Given the description of an element on the screen output the (x, y) to click on. 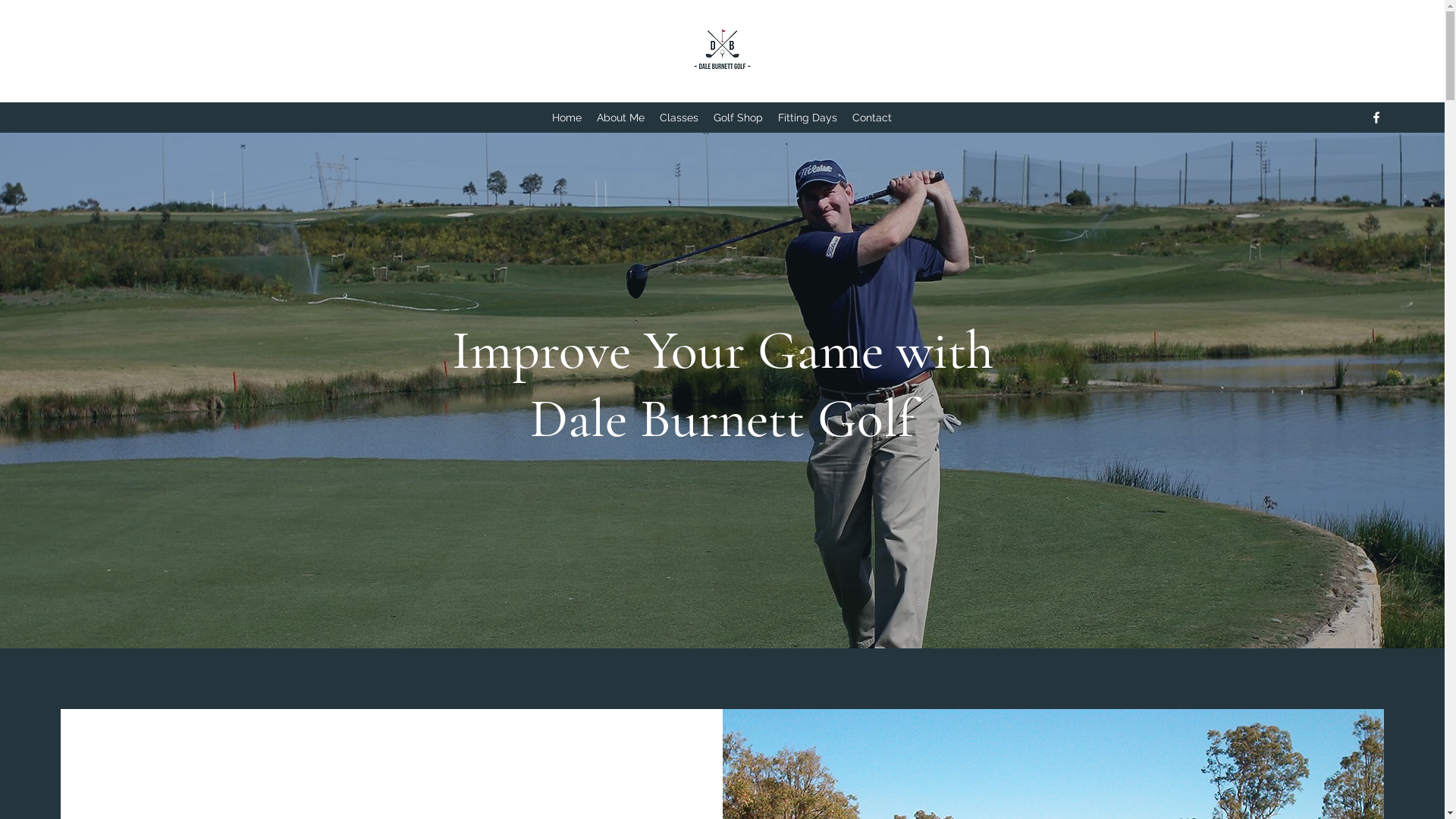
Classes Element type: text (679, 117)
About Me Element type: text (620, 117)
Fitting Days Element type: text (807, 117)
Contact Element type: text (871, 117)
Golf Shop Element type: text (738, 117)
Home Element type: text (566, 117)
